Given the description of an element on the screen output the (x, y) to click on. 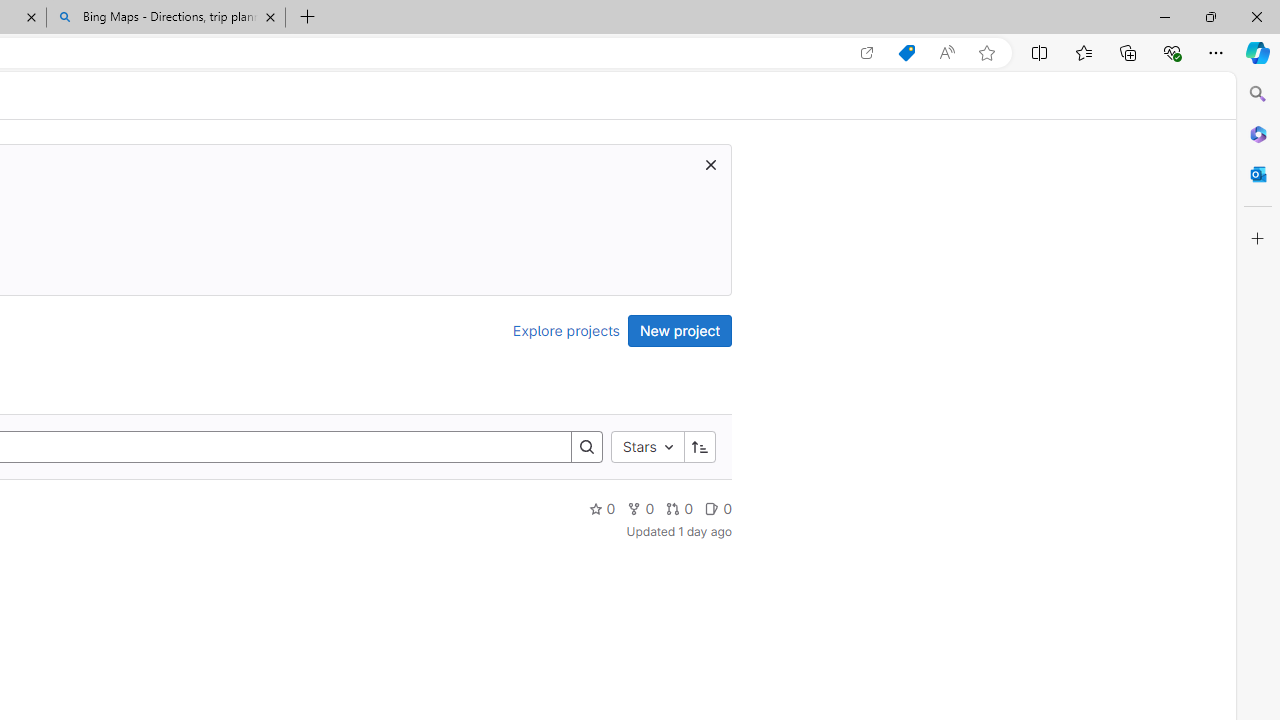
0 (718, 508)
Class: s16 gl-icon gl-button-icon  (710, 164)
Explore projects (565, 330)
Open in app (867, 53)
Stars (647, 445)
